Given the description of an element on the screen output the (x, y) to click on. 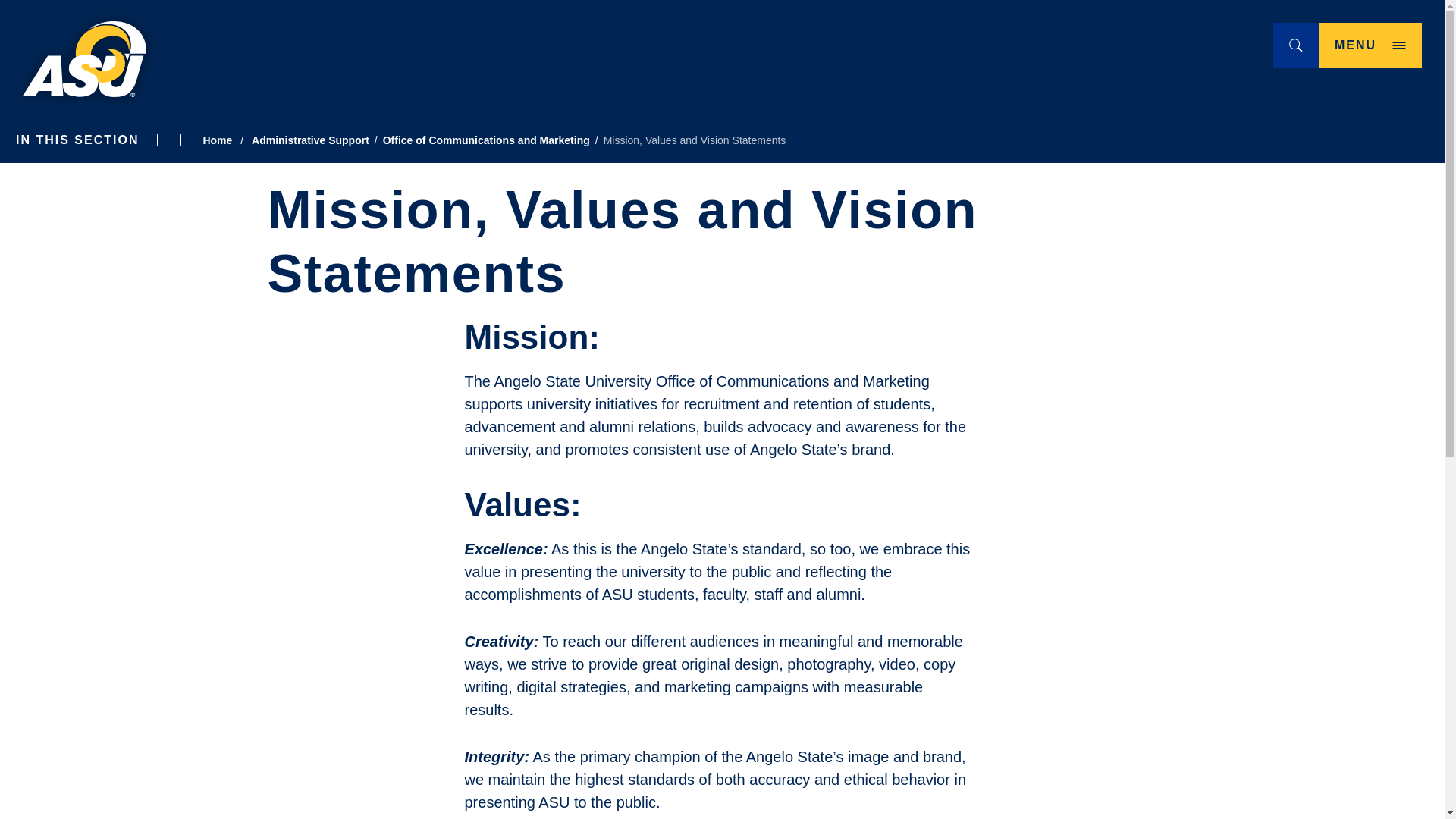
Angelo State University (85, 59)
Toggle Search Form (1370, 44)
